Given the description of an element on the screen output the (x, y) to click on. 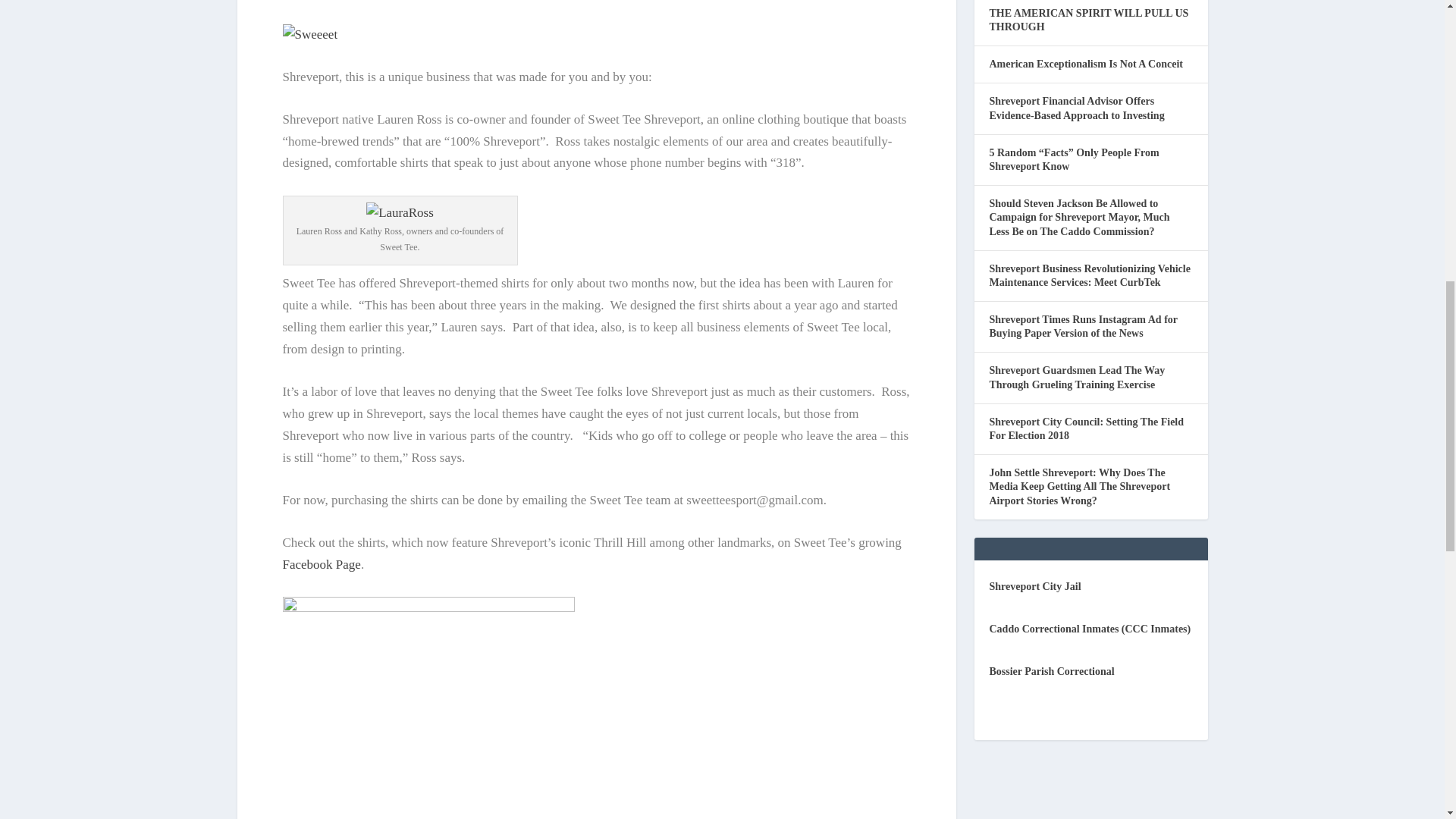
Facebook Page (320, 564)
